Given the description of an element on the screen output the (x, y) to click on. 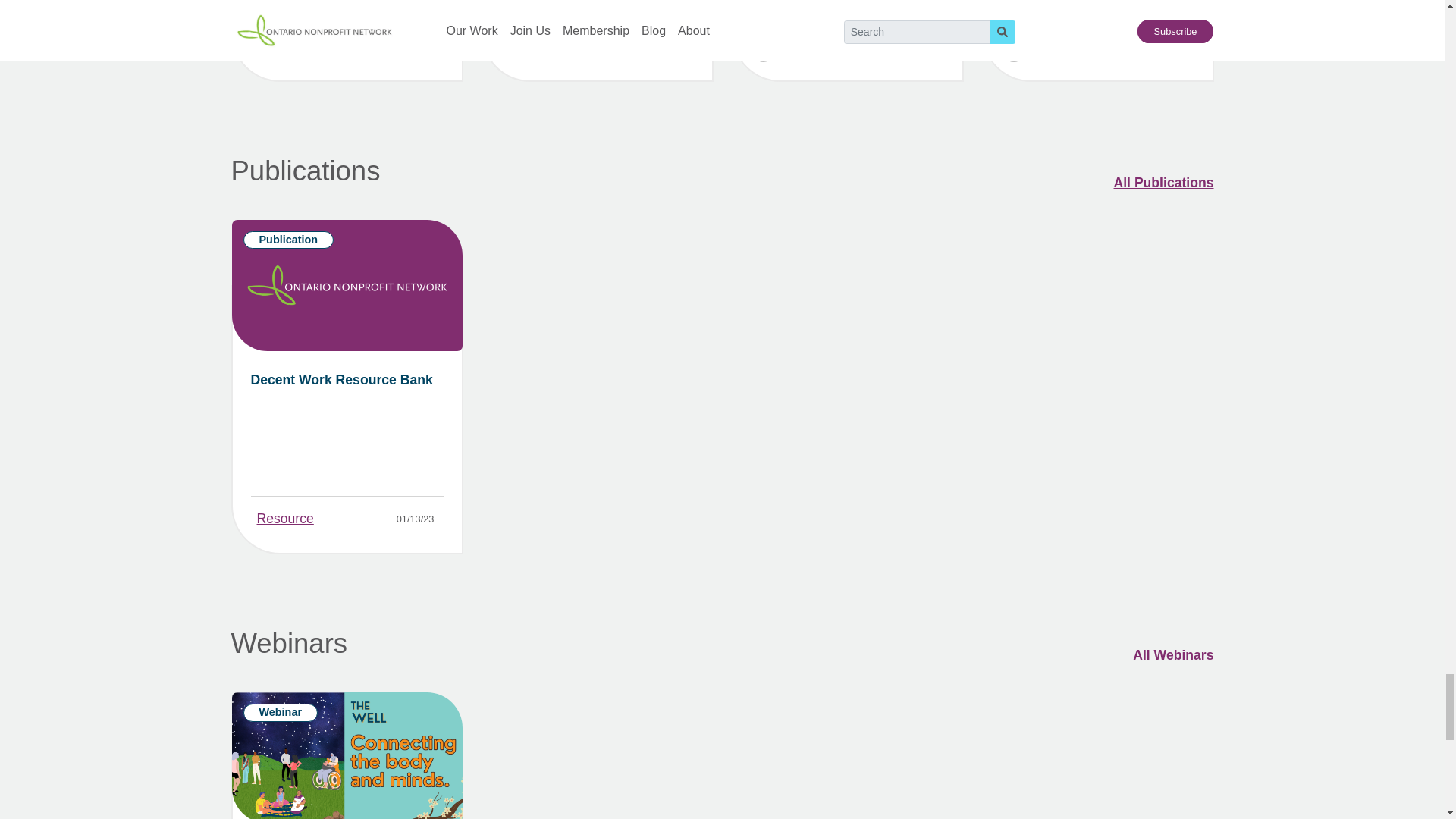
ONN (297, 50)
